Given the description of an element on the screen output the (x, y) to click on. 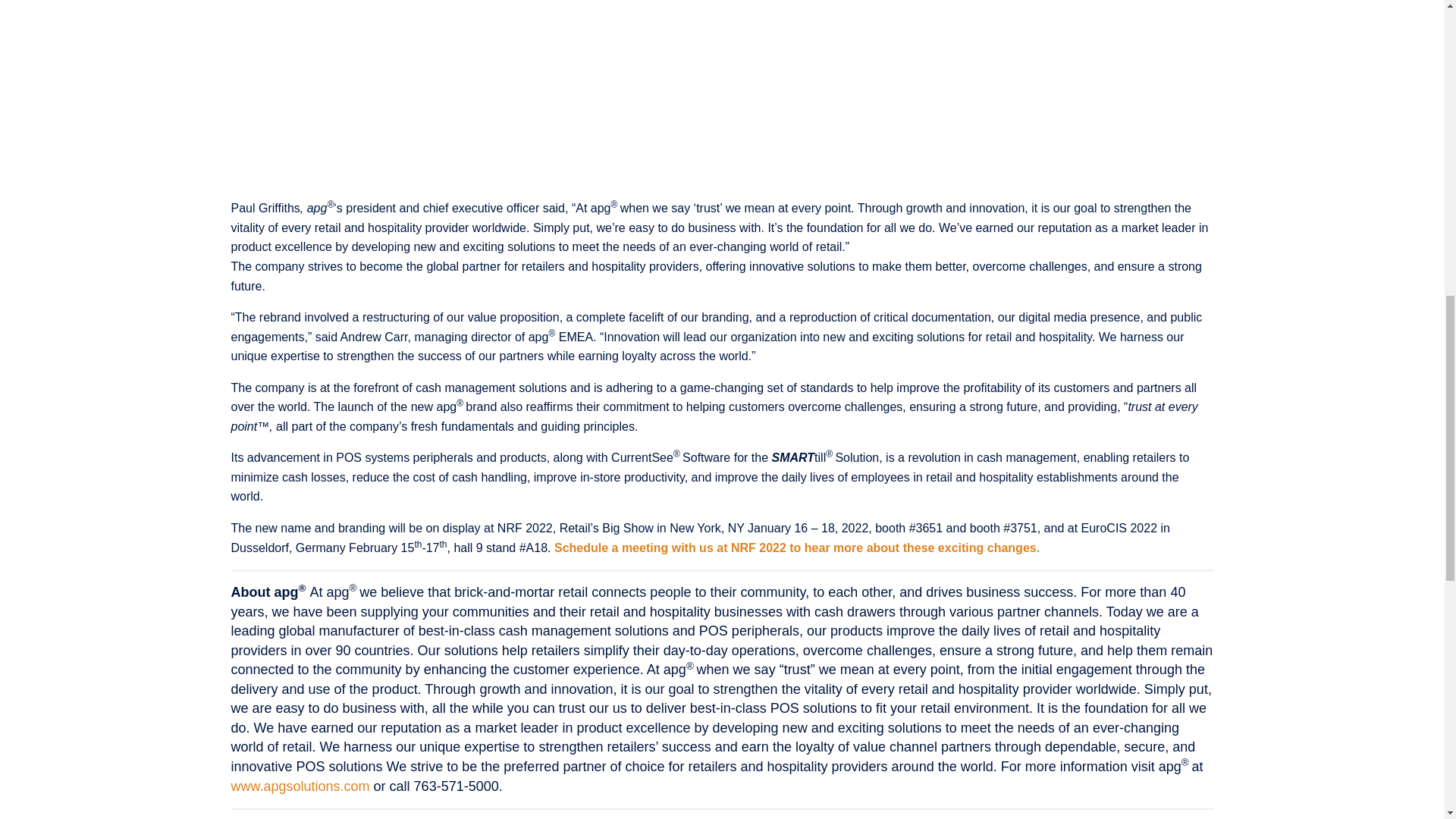
www.apgsolutions.com (299, 785)
